Given the description of an element on the screen output the (x, y) to click on. 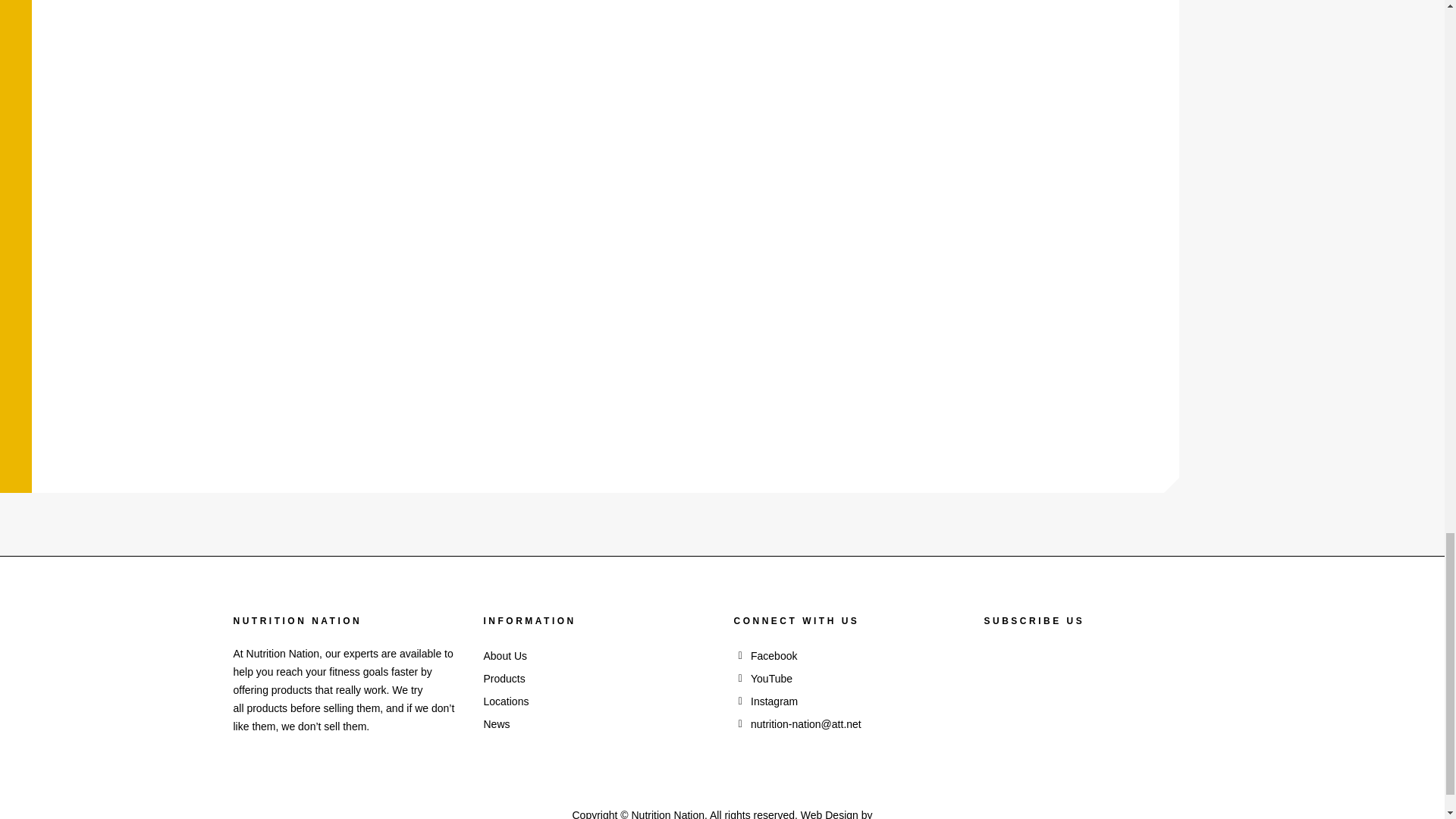
Locations (597, 701)
Products (597, 678)
Facebook (846, 655)
Instagram (846, 701)
About Us (597, 655)
News (597, 723)
YouTube (846, 678)
